Given the description of an element on the screen output the (x, y) to click on. 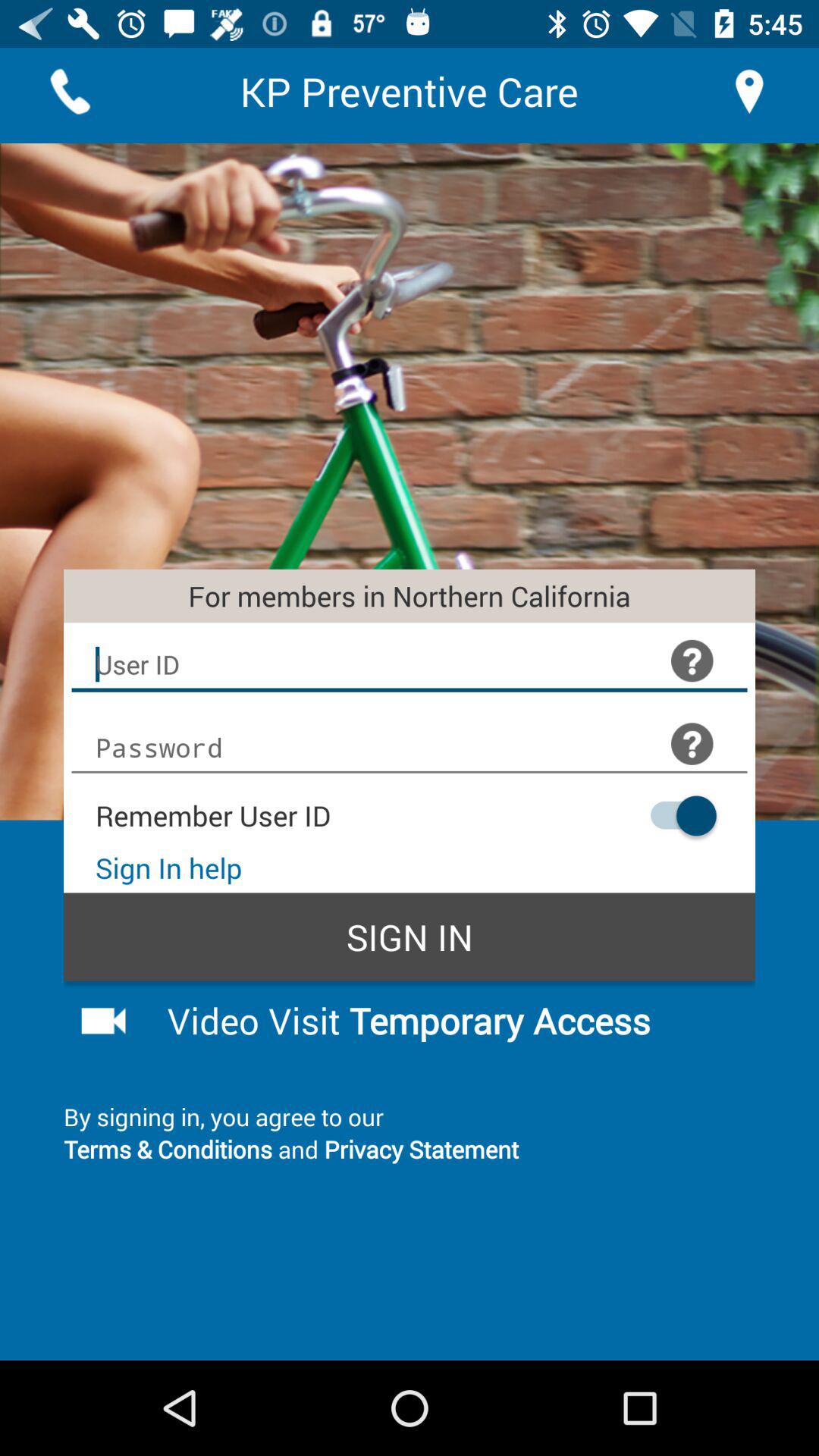
open the terms conditions and item (409, 1148)
